Given the description of an element on the screen output the (x, y) to click on. 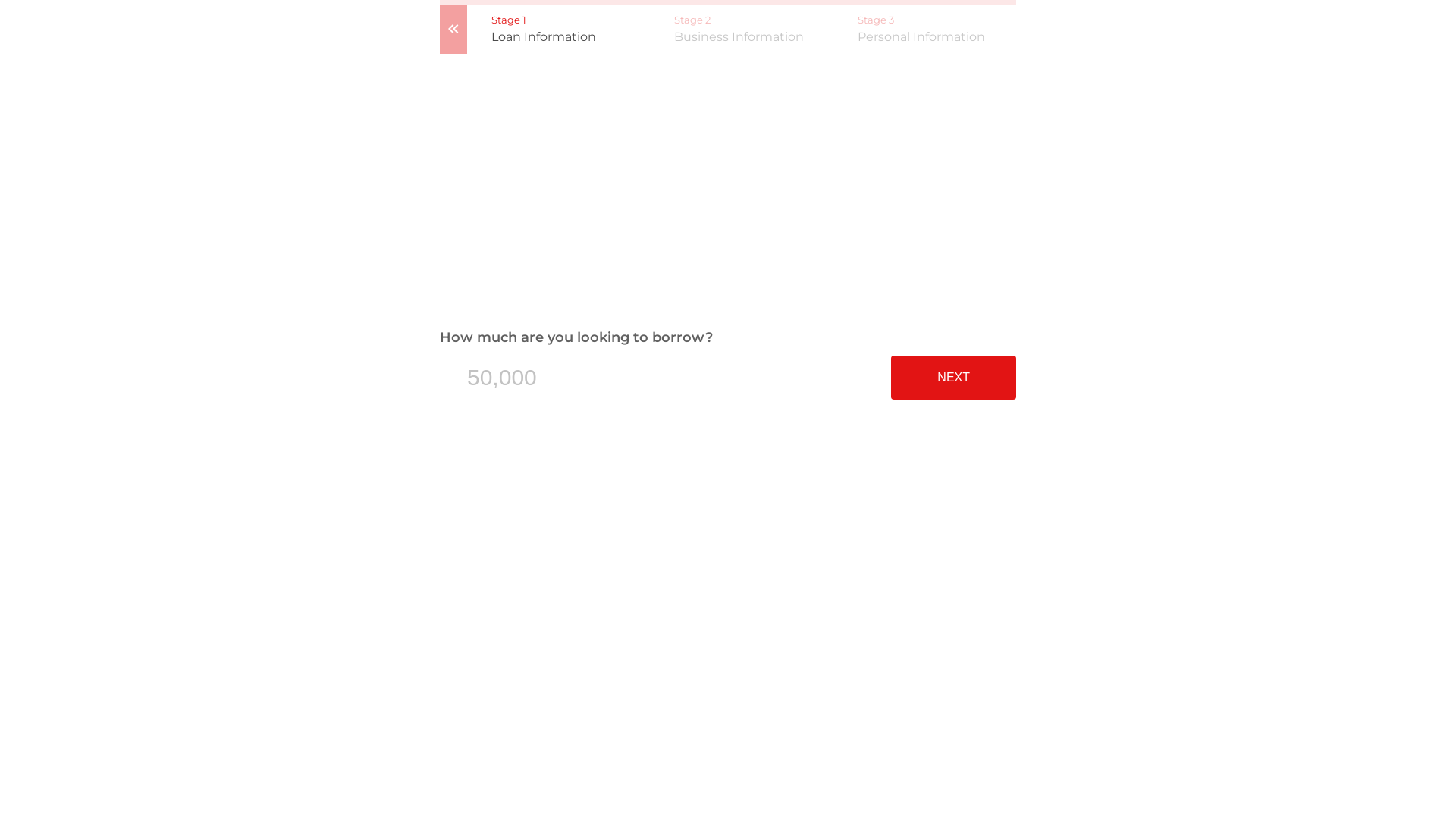
NEXT Element type: text (953, 377)
